Given the description of an element on the screen output the (x, y) to click on. 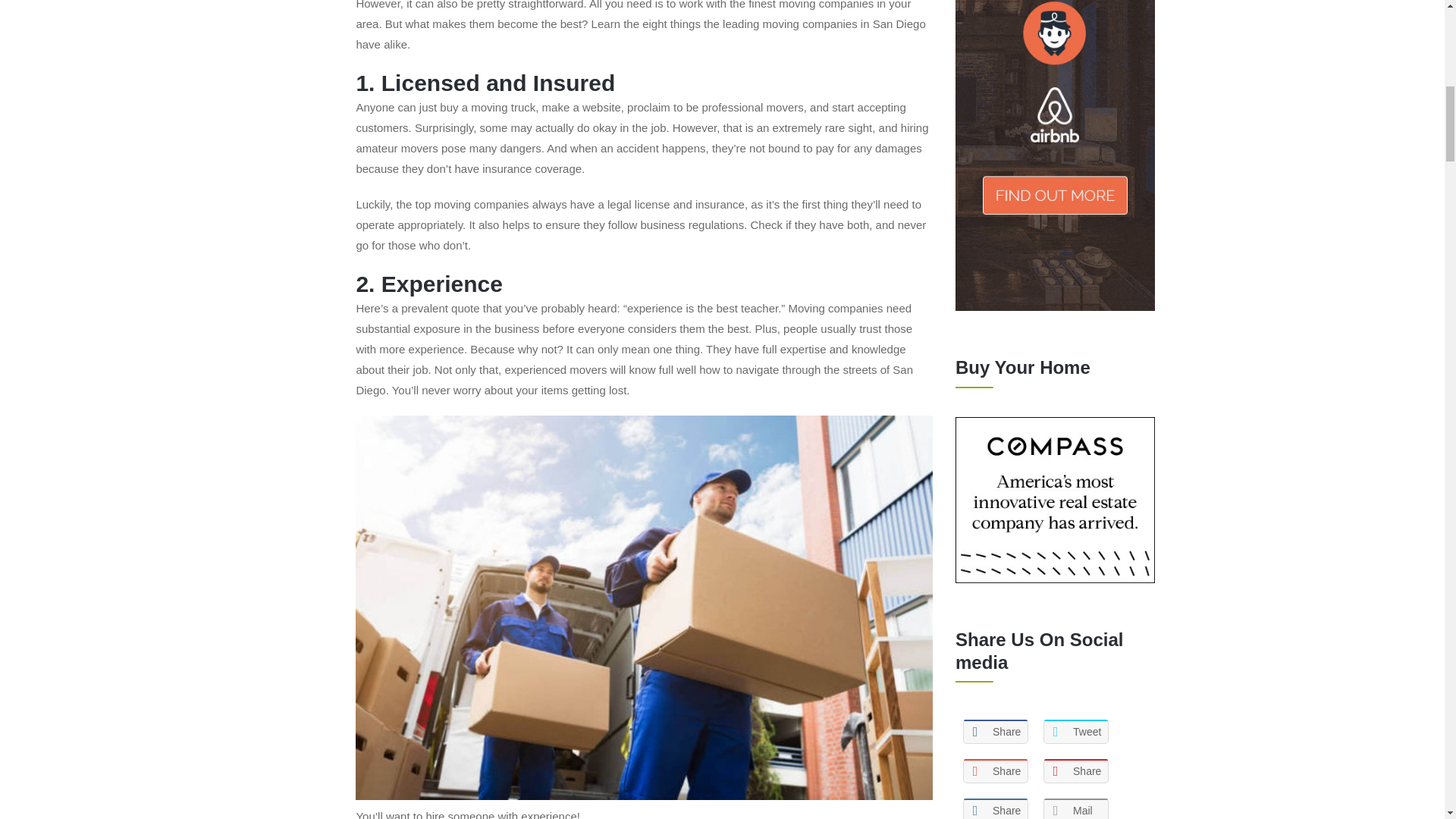
Share on Google Plus (994, 770)
Share on Pinterest (1075, 770)
Share it on Email (1075, 808)
Share on Facebook (994, 731)
Share on Twitter (1075, 731)
Share on LinkedIn (994, 808)
